Given the description of an element on the screen output the (x, y) to click on. 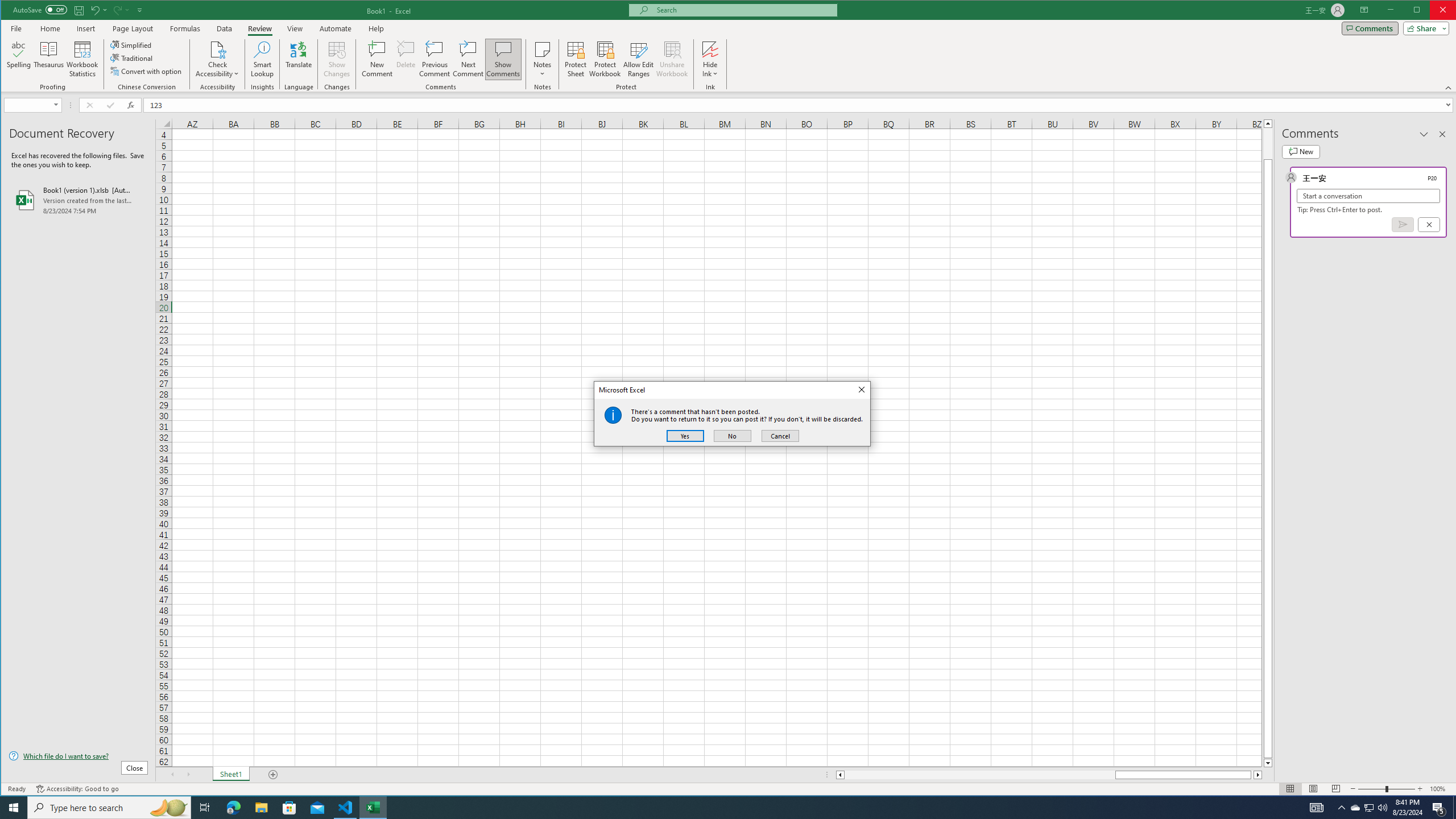
Q2790: 100% (1382, 807)
System (11, 10)
Accessibility Checker Accessibility: Good to go (77, 788)
Zoom Out (1372, 788)
Automate (336, 28)
Class: MsoCommandBar (728, 45)
Minimize (1419, 11)
Microsoft search (742, 10)
Name Box (32, 105)
Thesaurus... (48, 59)
Protect Sheet... (575, 59)
No (732, 435)
Zoom In (1420, 788)
Maximize (1432, 11)
Simplified (132, 44)
